Given the description of an element on the screen output the (x, y) to click on. 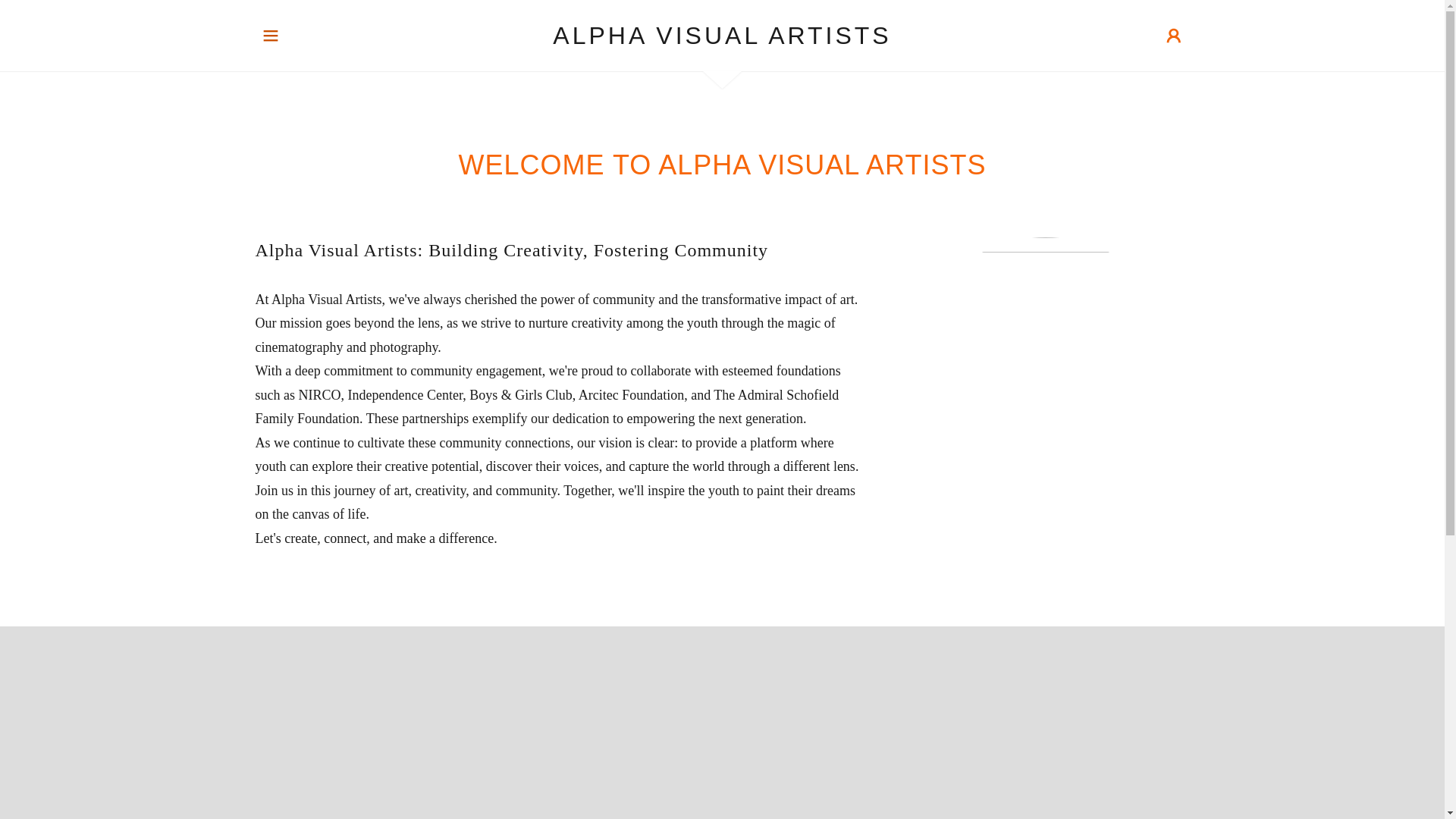
ALPHA VISUAL ARTISTS (721, 38)
ALPHA VISUAL ARTISTS (721, 38)
